Given the description of an element on the screen output the (x, y) to click on. 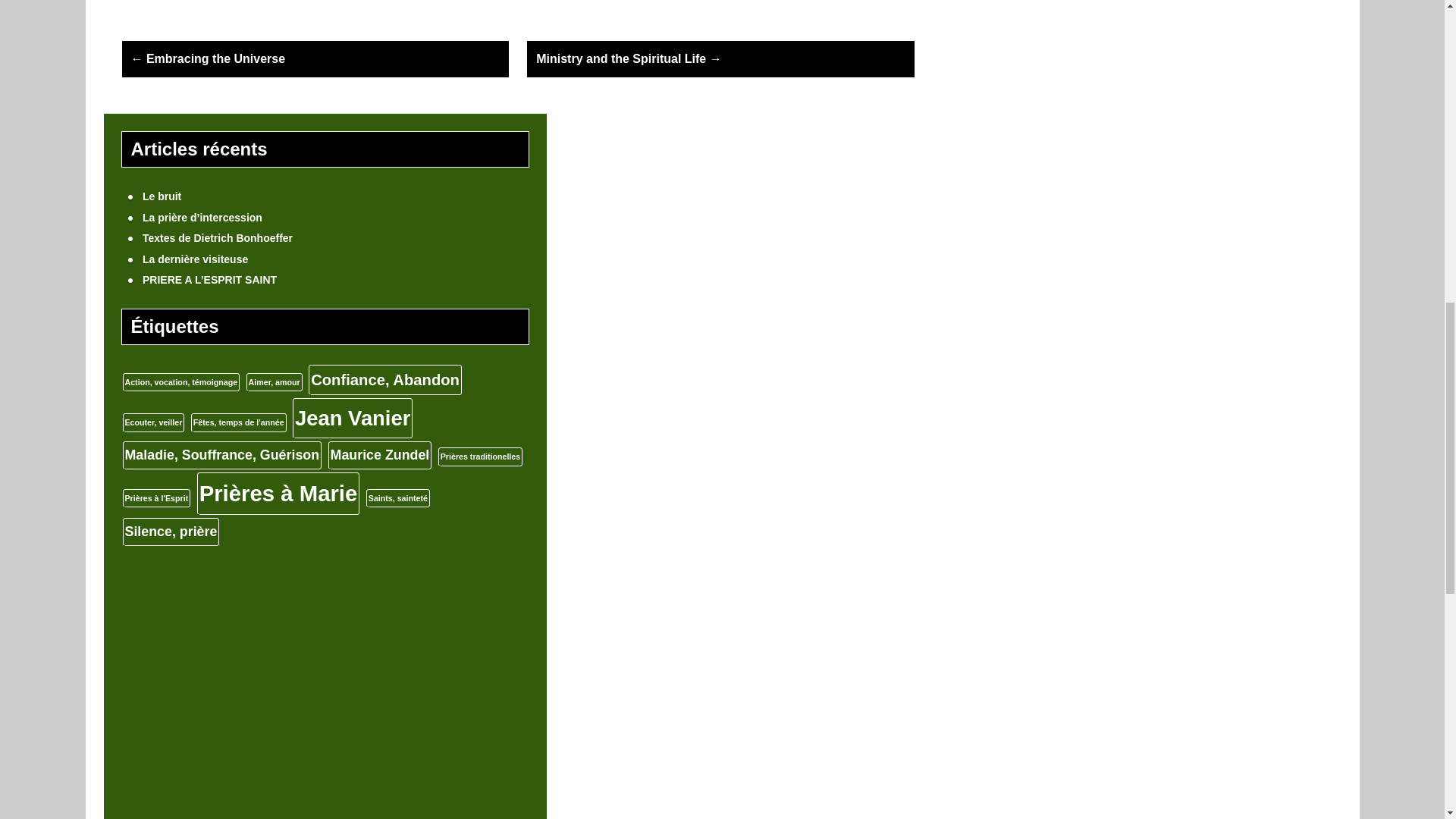
juin 2021 (1034, 155)
octobre 2021 (1035, 133)
mai 2016 (1034, 259)
janvier 2022 (1034, 92)
mai 2023 (1034, 9)
octobre 2017 (1035, 196)
janvier 2023 (1034, 71)
avril 2023 (1034, 30)
mars 2023 (1035, 51)
novembre 2021 (1034, 113)
mars 2021 (1035, 175)
novembre 2016 (1034, 237)
